Given the description of an element on the screen output the (x, y) to click on. 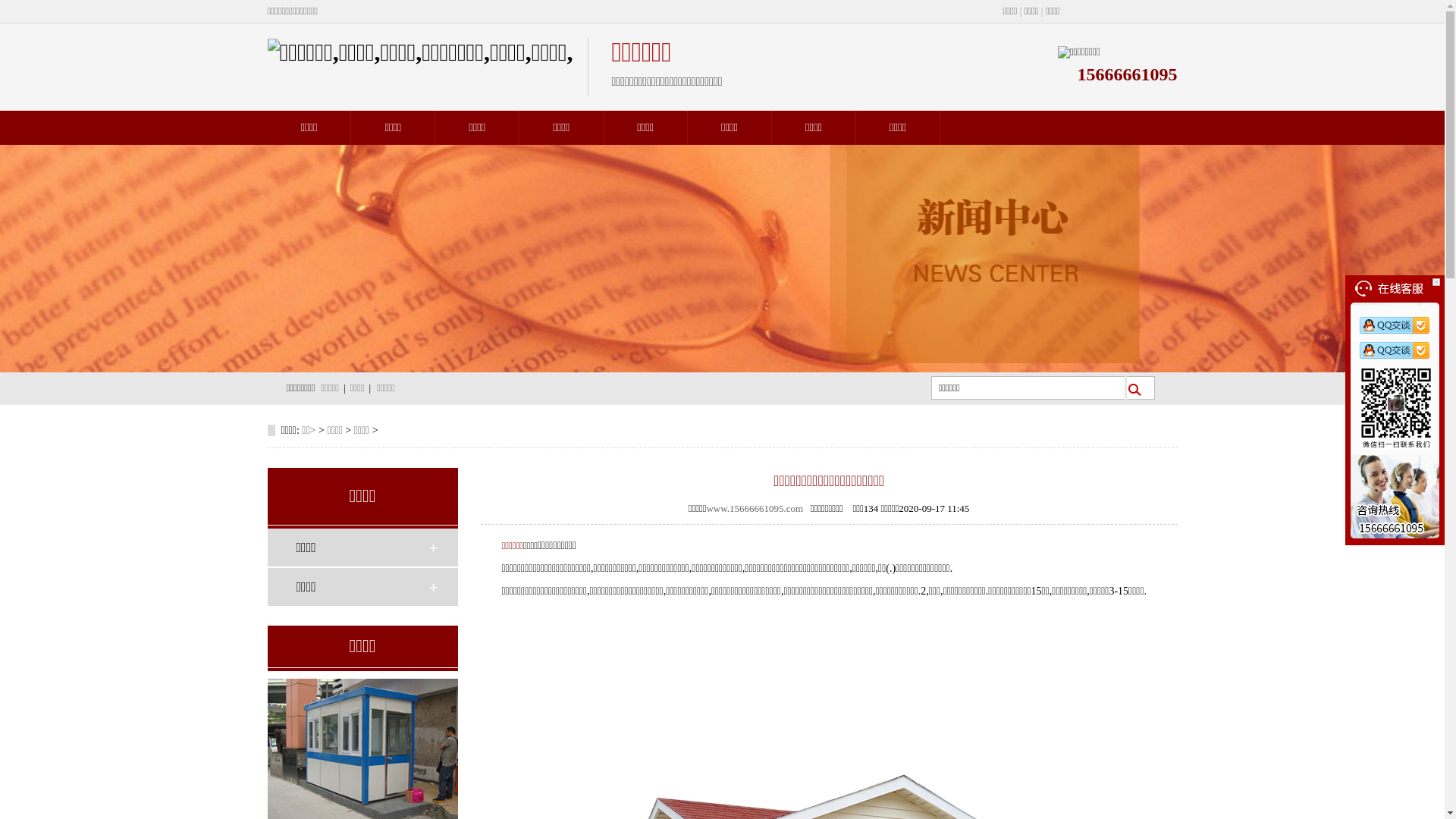
www.15666661095.com Element type: text (754, 508)
